Given the description of an element on the screen output the (x, y) to click on. 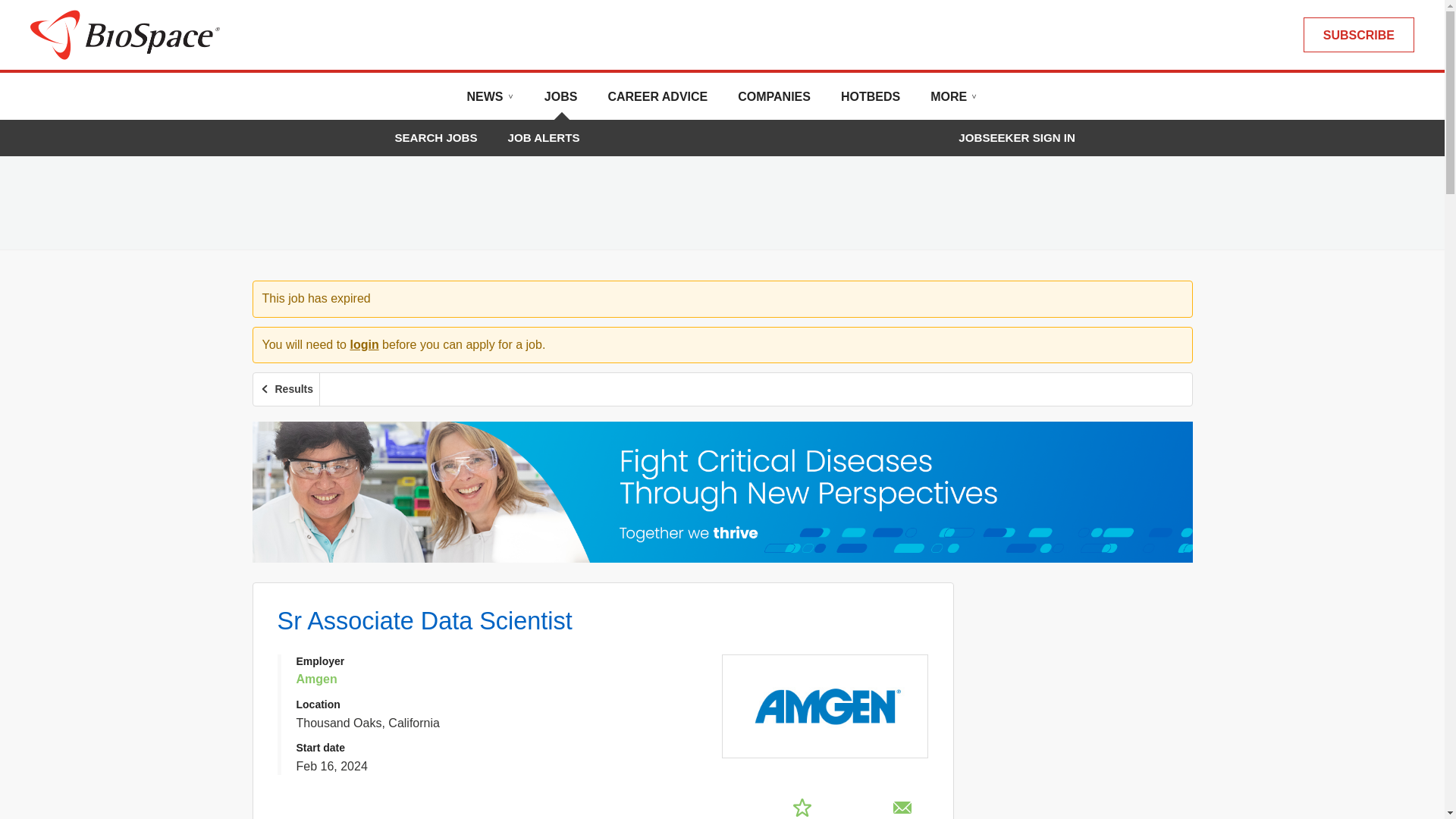
COMPANIES (774, 102)
HOTBEDS (870, 102)
JOB ALERTS (543, 137)
CAREER ADVICE (657, 102)
JOBSEEKER SIGN IN (1016, 137)
JOBS (561, 102)
SEARCH JOBS (435, 137)
MORE (953, 102)
BioSpace (124, 34)
NEWS (490, 102)
